Given the description of an element on the screen output the (x, y) to click on. 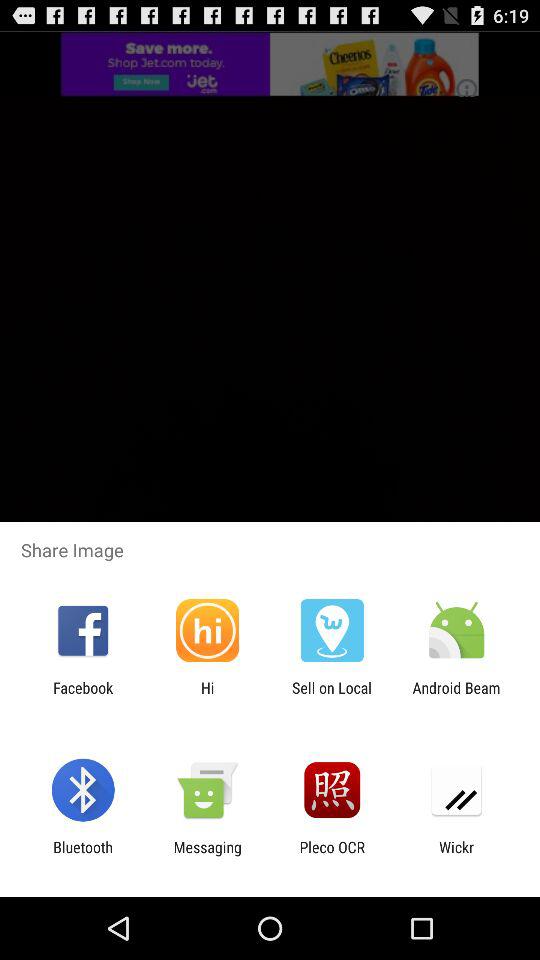
jump until pleco ocr icon (331, 856)
